Given the description of an element on the screen output the (x, y) to click on. 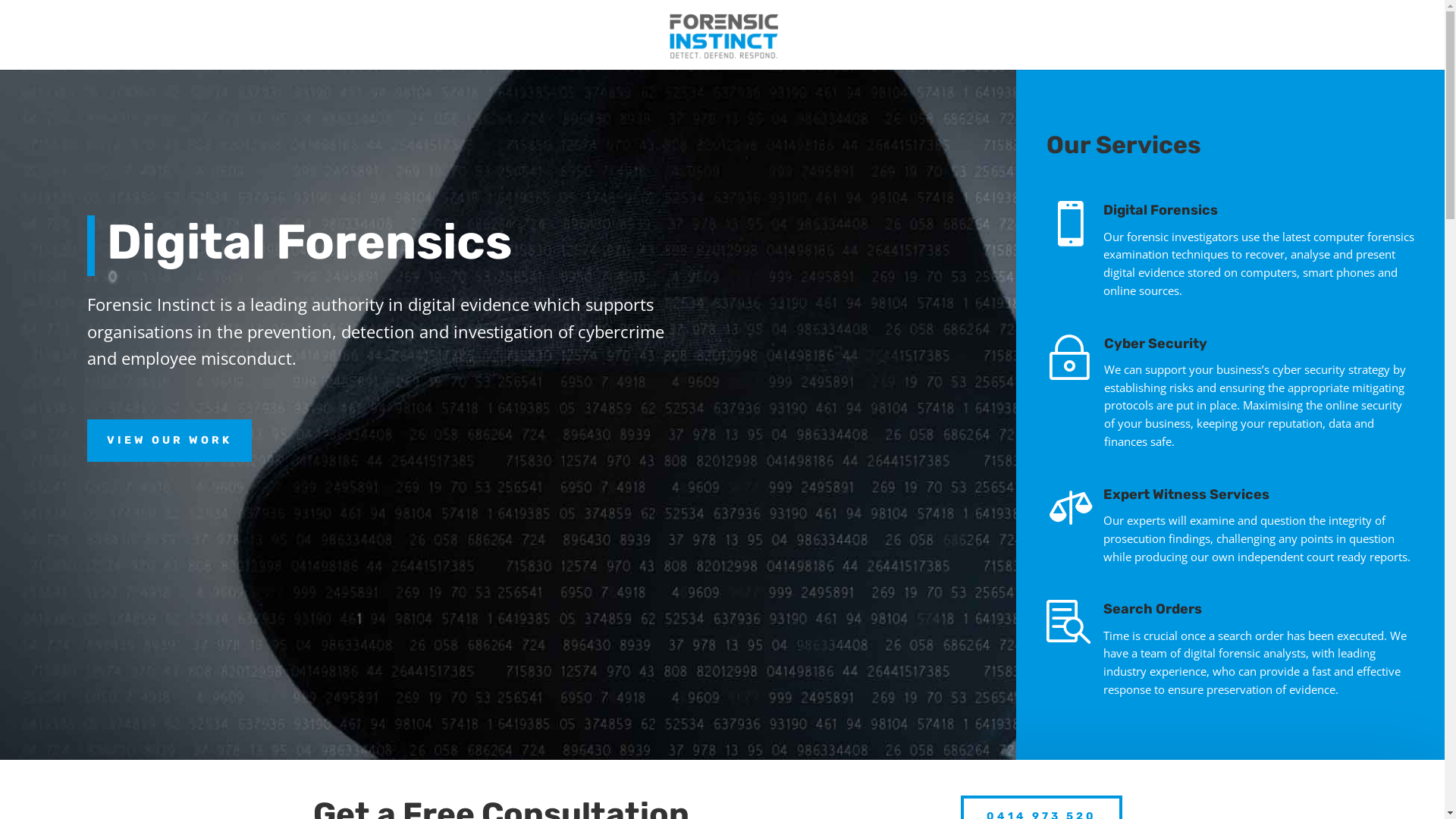
VIEW OUR WORK Element type: text (169, 440)
